Given the description of an element on the screen output the (x, y) to click on. 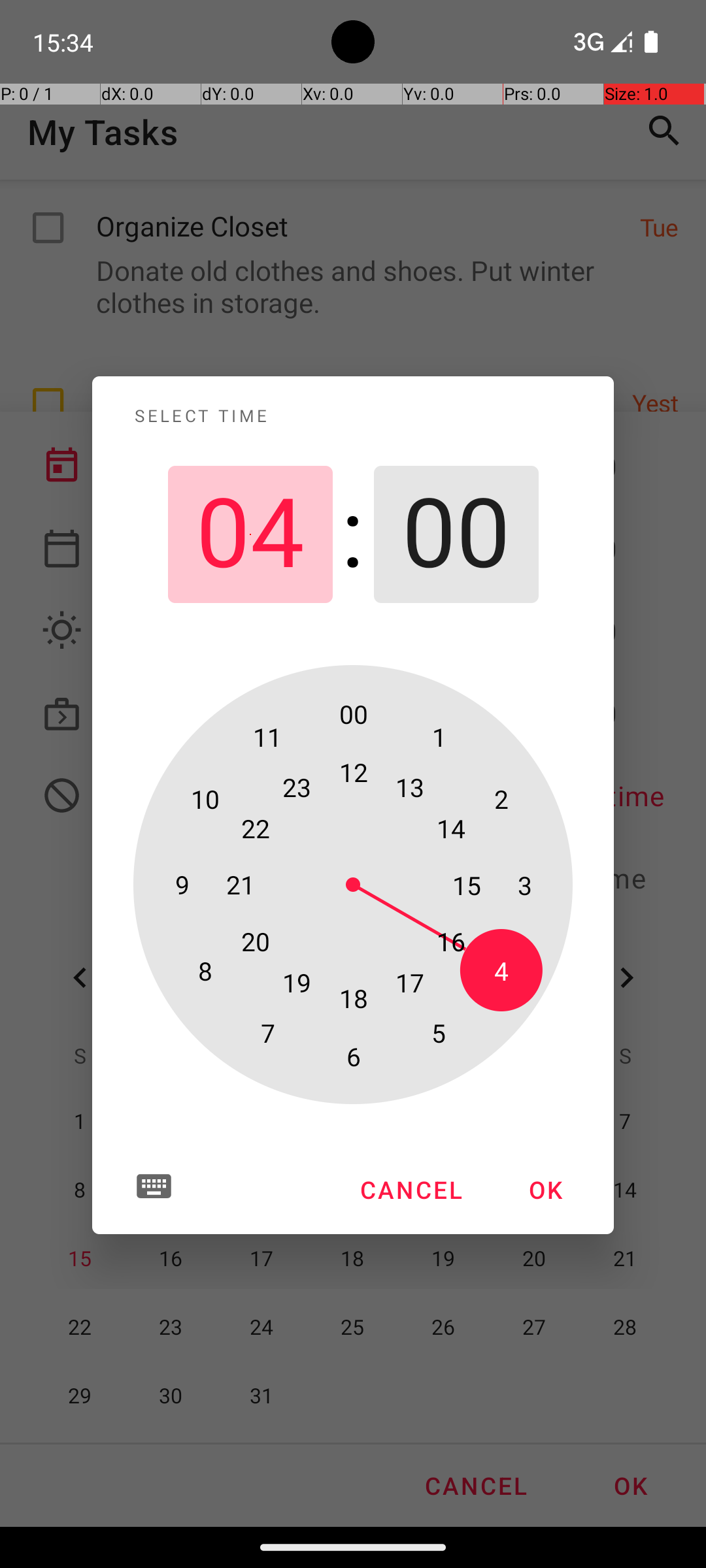
04 Element type: android.view.View (250, 534)
